Given the description of an element on the screen output the (x, y) to click on. 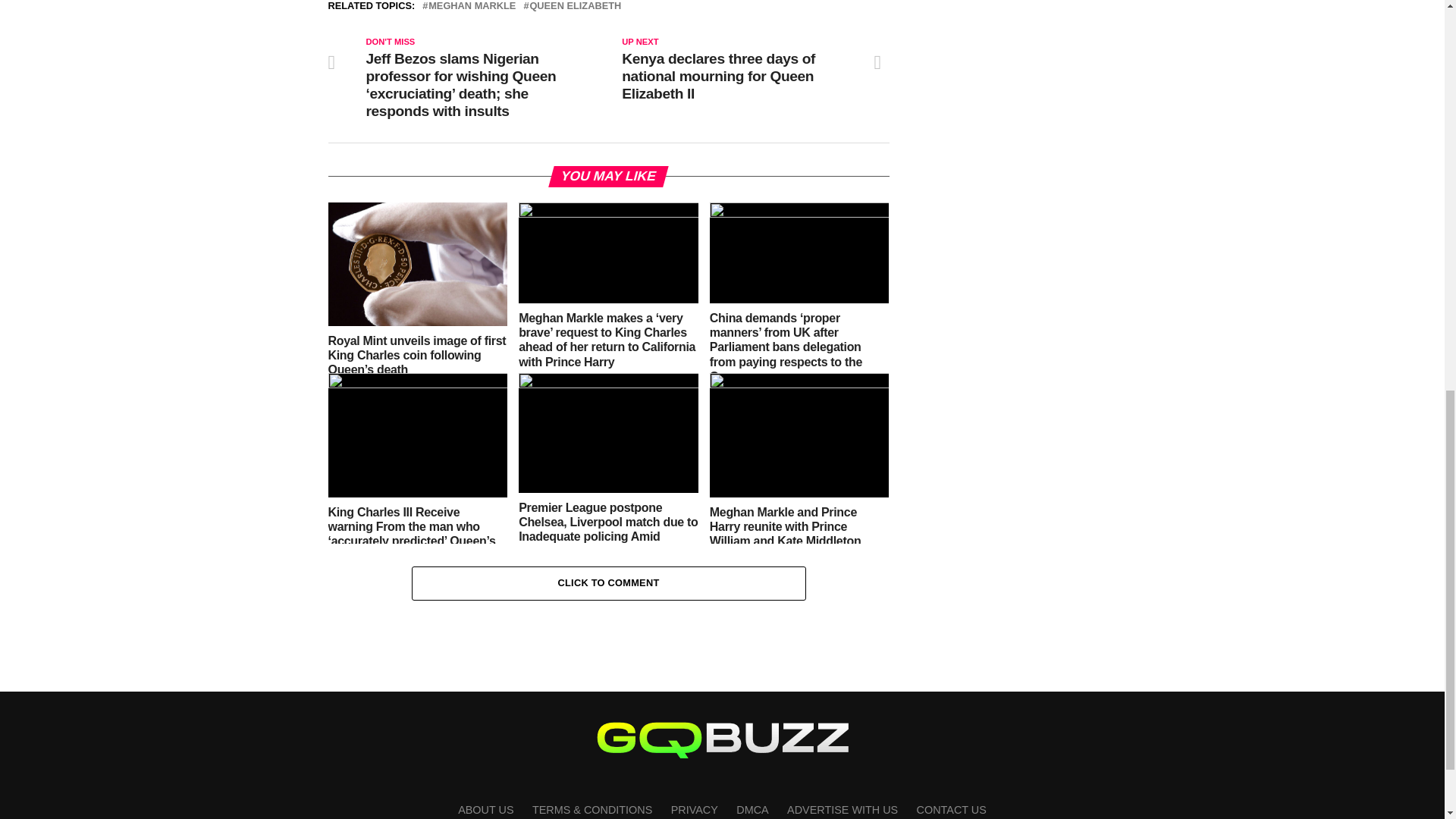
QUEEN ELIZABETH (575, 6)
MEGHAN MARKLE (471, 6)
ABOUT US (485, 809)
ADVERTISE WITH US (842, 809)
CONTACT US (952, 809)
PRIVACY (694, 809)
DMCA (752, 809)
